Given the description of an element on the screen output the (x, y) to click on. 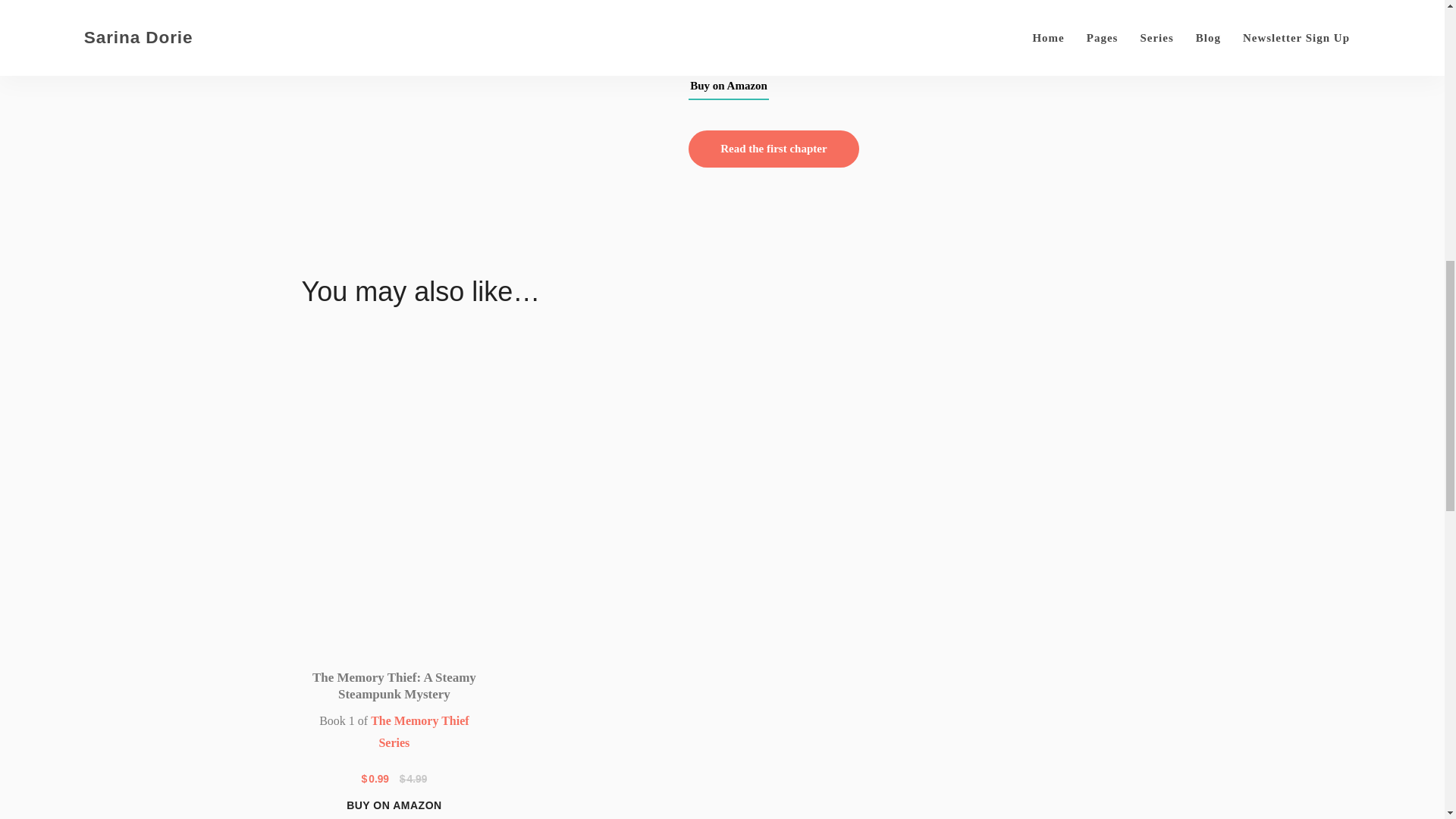
BUY ON AMAZON (394, 806)
Buy on Amazon (728, 86)
Read the first chapter (773, 148)
The Memory Thief: A Steamy Steampunk Mystery (393, 685)
The Memory Thief Series (419, 731)
